Given the description of an element on the screen output the (x, y) to click on. 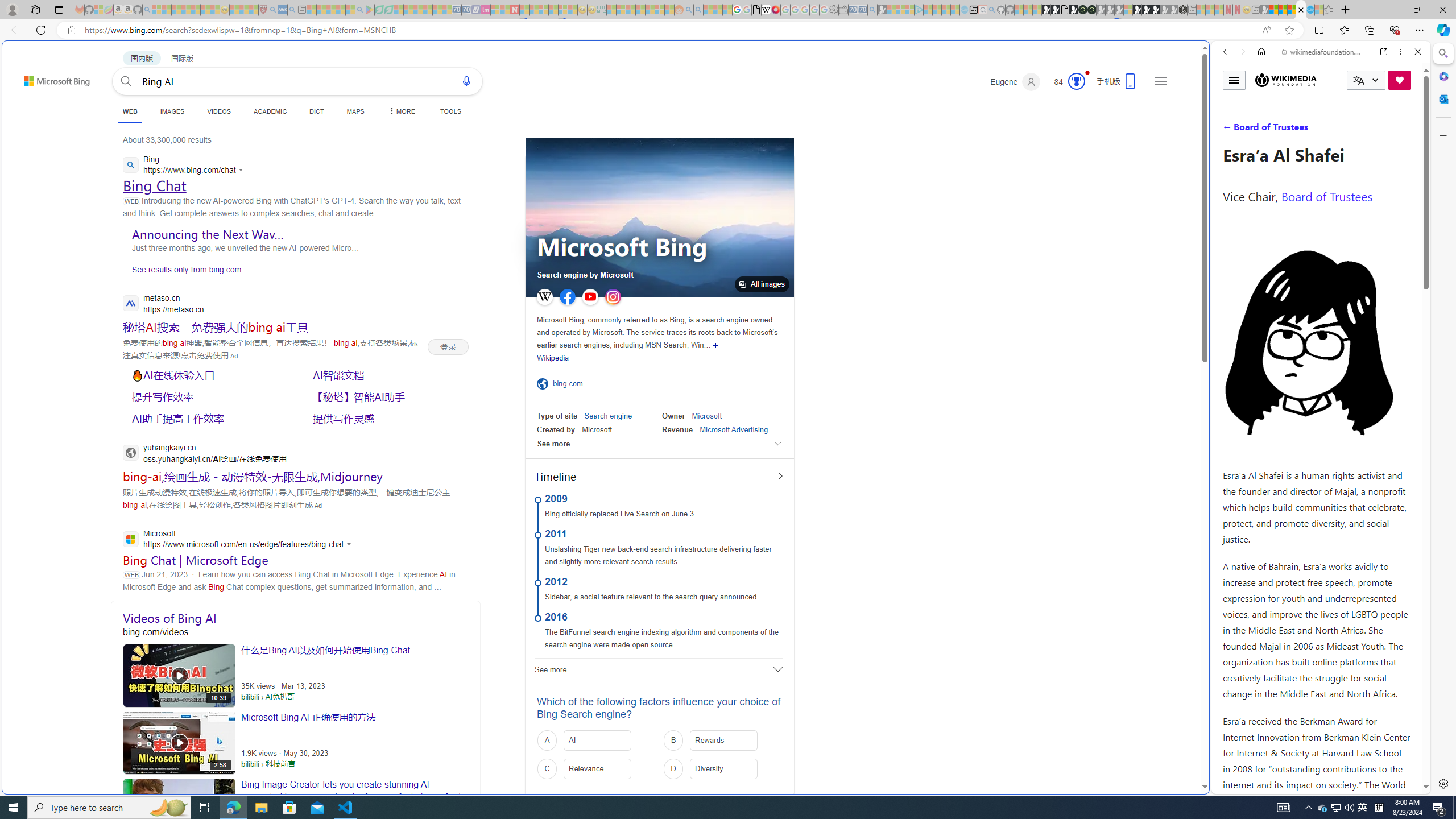
CURRENT LANGUAGE: (1366, 80)
Services - Maintenance | Sky Blue Bikes - Sky Blue Bikes (1309, 9)
C Relevance (596, 768)
Settings and quick links (1160, 80)
Toggle menu (1233, 80)
